Given the description of an element on the screen output the (x, y) to click on. 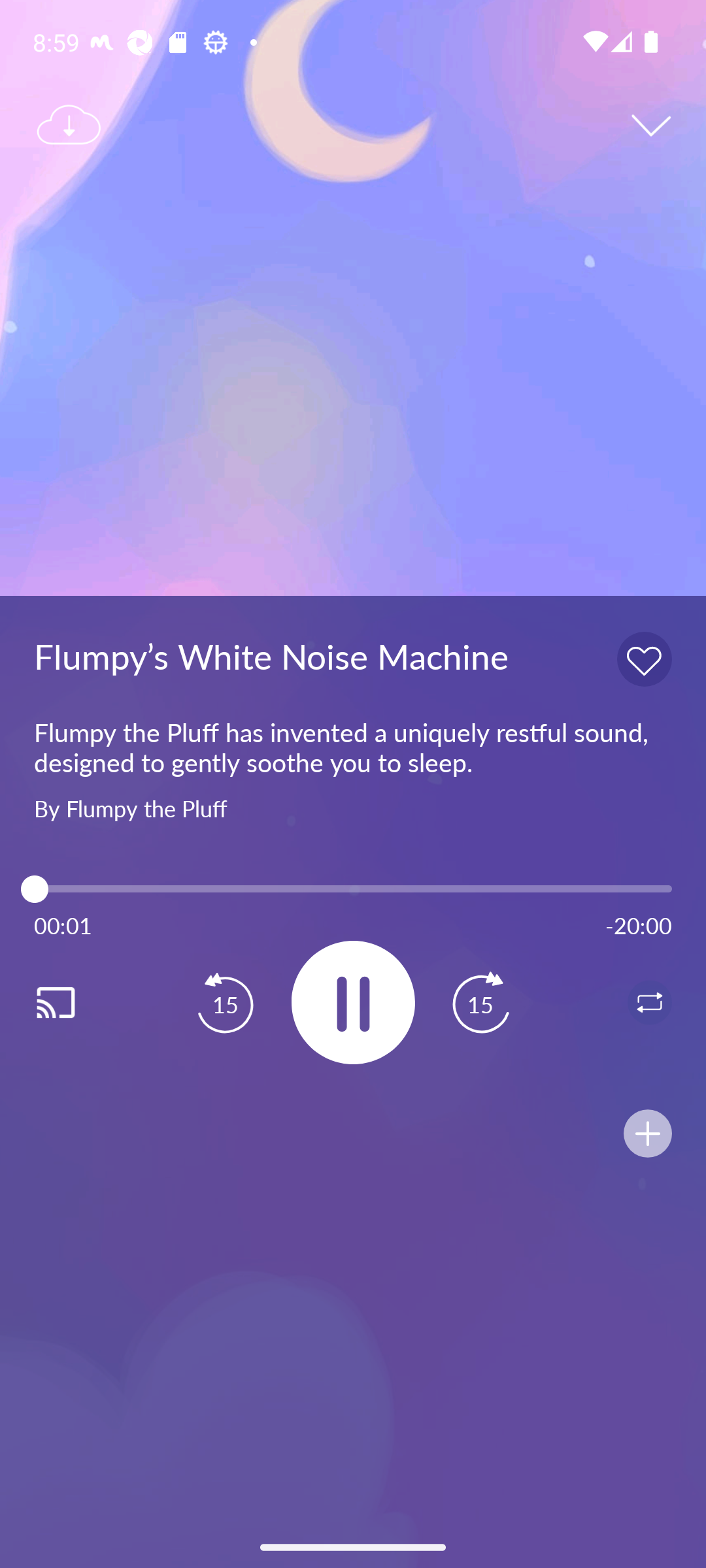
1.0 (352, 888)
Cast. Disconnected (76, 1002)
